Given the description of an element on the screen output the (x, y) to click on. 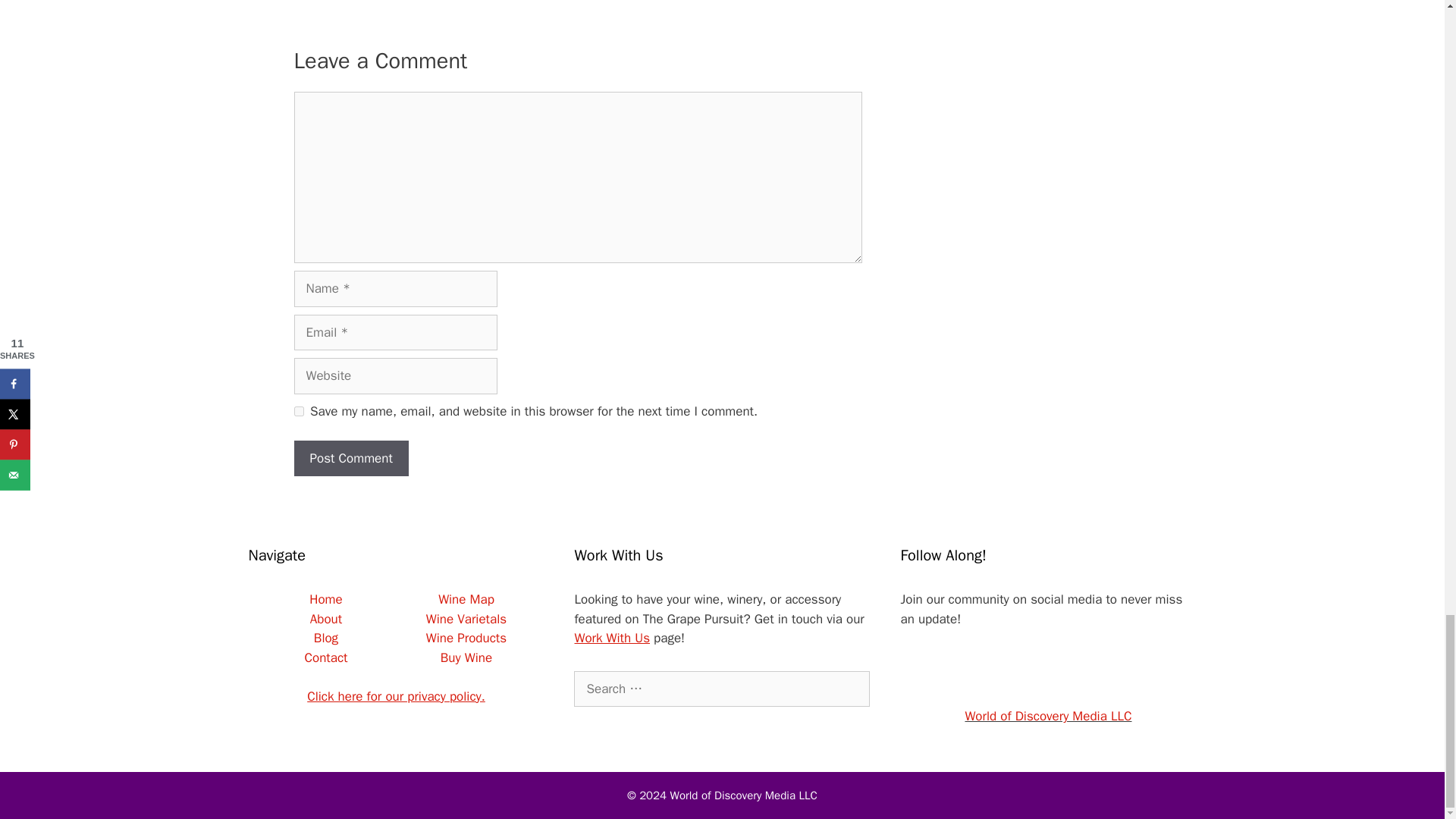
Post Comment (351, 458)
yes (299, 411)
Search for: (721, 688)
Facebook (974, 670)
